Given the description of an element on the screen output the (x, y) to click on. 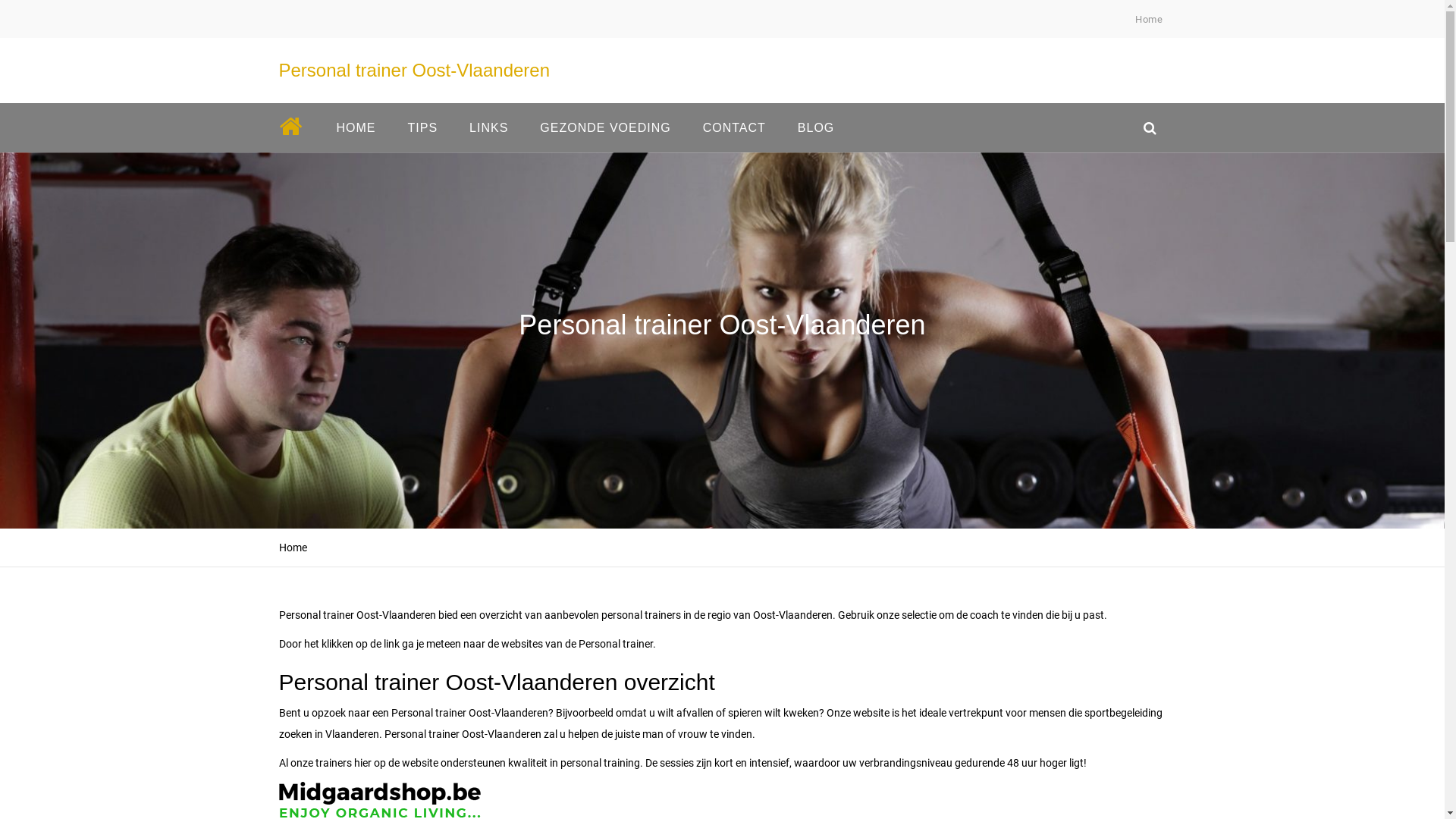
CONTACT Element type: text (734, 127)
search_icon Element type: hover (1148, 127)
Home Element type: text (1148, 19)
HOME Element type: text (355, 127)
Personal trainer Oost-Vlaanderen Element type: text (414, 69)
LINKS Element type: text (488, 127)
BLOG Element type: text (815, 127)
TIPS Element type: text (422, 127)
GEZONDE VOEDING Element type: text (605, 127)
